Given the description of an element on the screen output the (x, y) to click on. 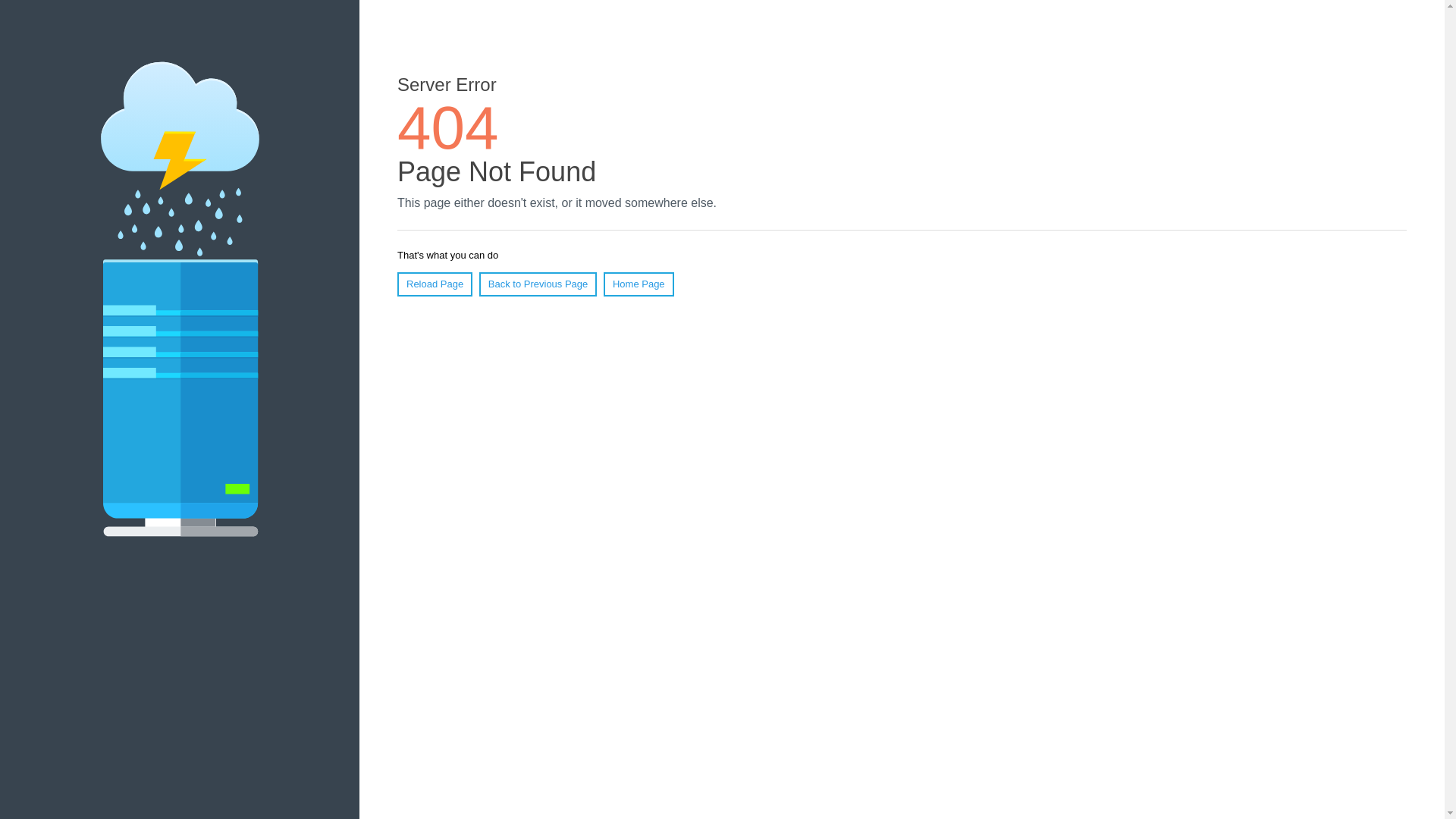
Back to Previous Page Element type: text (538, 284)
Reload Page Element type: text (434, 284)
Home Page Element type: text (638, 284)
